Given the description of an element on the screen output the (x, y) to click on. 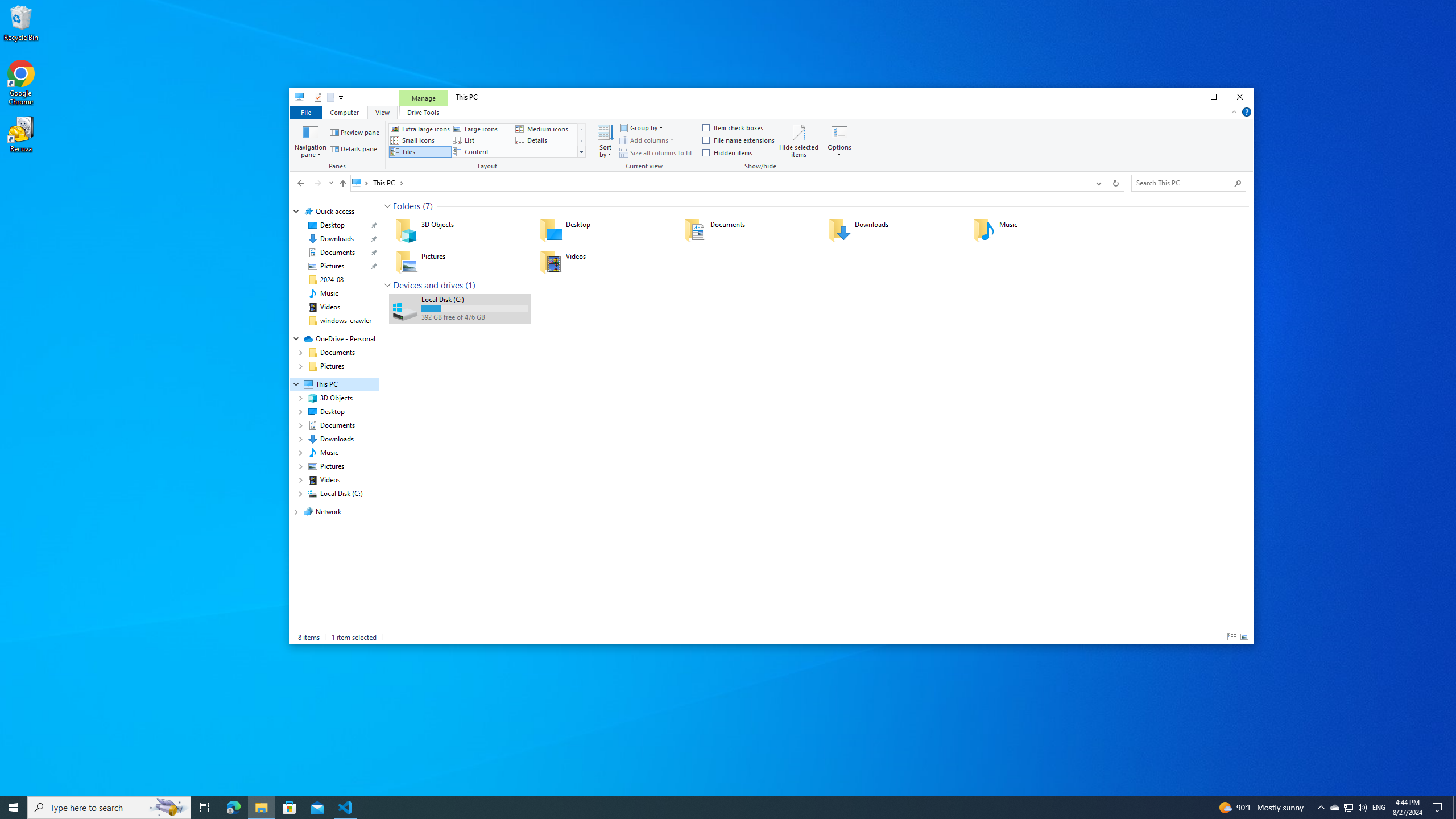
Layout (489, 145)
Medium icons (544, 129)
Details (544, 140)
Pictures (459, 261)
Desktop (pinned) (332, 224)
2024-08 (331, 279)
All locations (360, 182)
This PC (388, 182)
Size all columns to fit (655, 152)
Details pane (353, 148)
Documents (pinned) (337, 252)
Small icons (419, 140)
Tiles (419, 151)
